Given the description of an element on the screen output the (x, y) to click on. 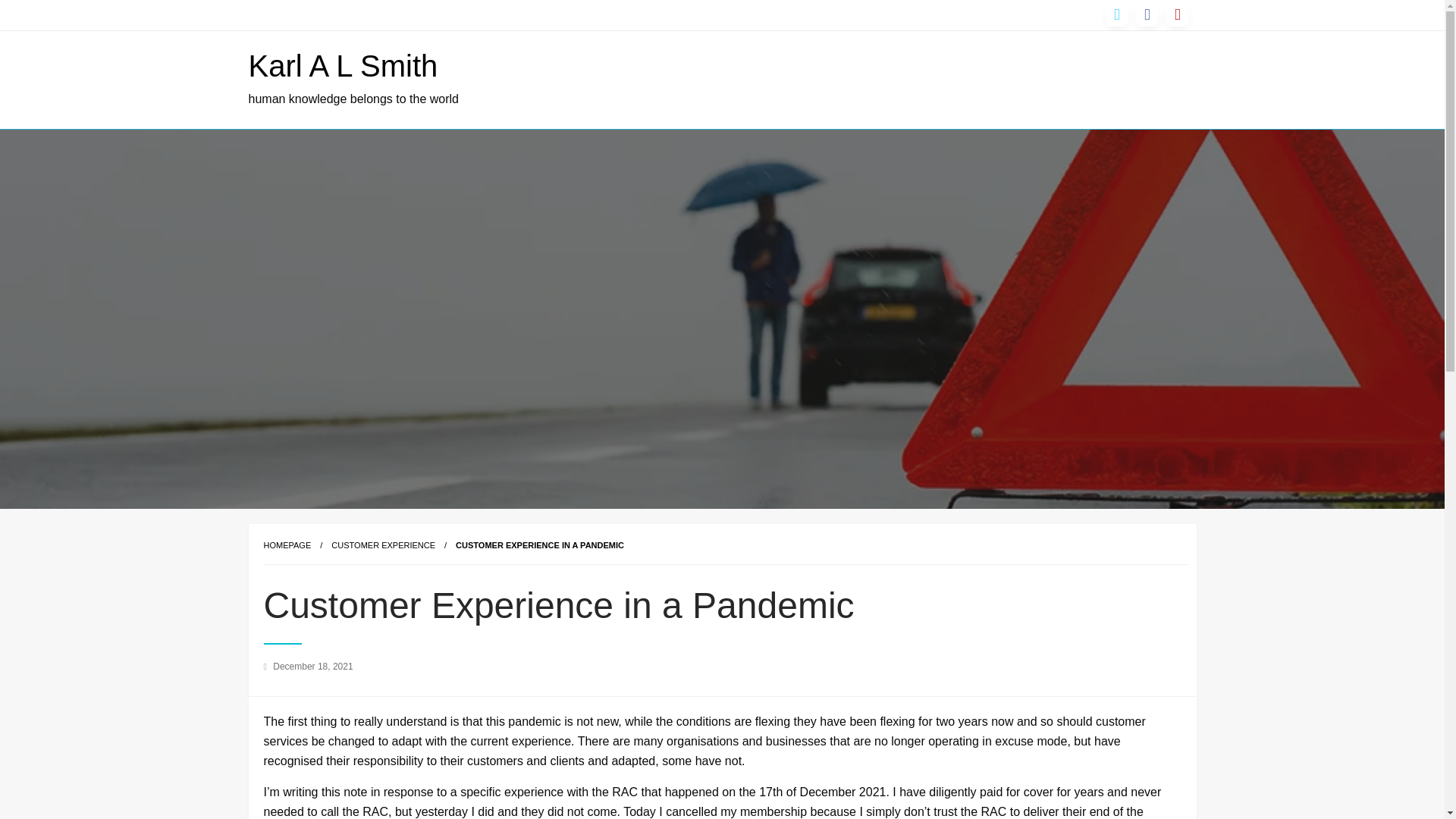
December 18, 2021 (312, 665)
Customer experience (383, 544)
Customer Experience in a Pandemic (539, 544)
Homepage (287, 544)
Karl A L Smith (343, 65)
CUSTOMER EXPERIENCE (383, 544)
HOMEPAGE (287, 544)
